Given the description of an element on the screen output the (x, y) to click on. 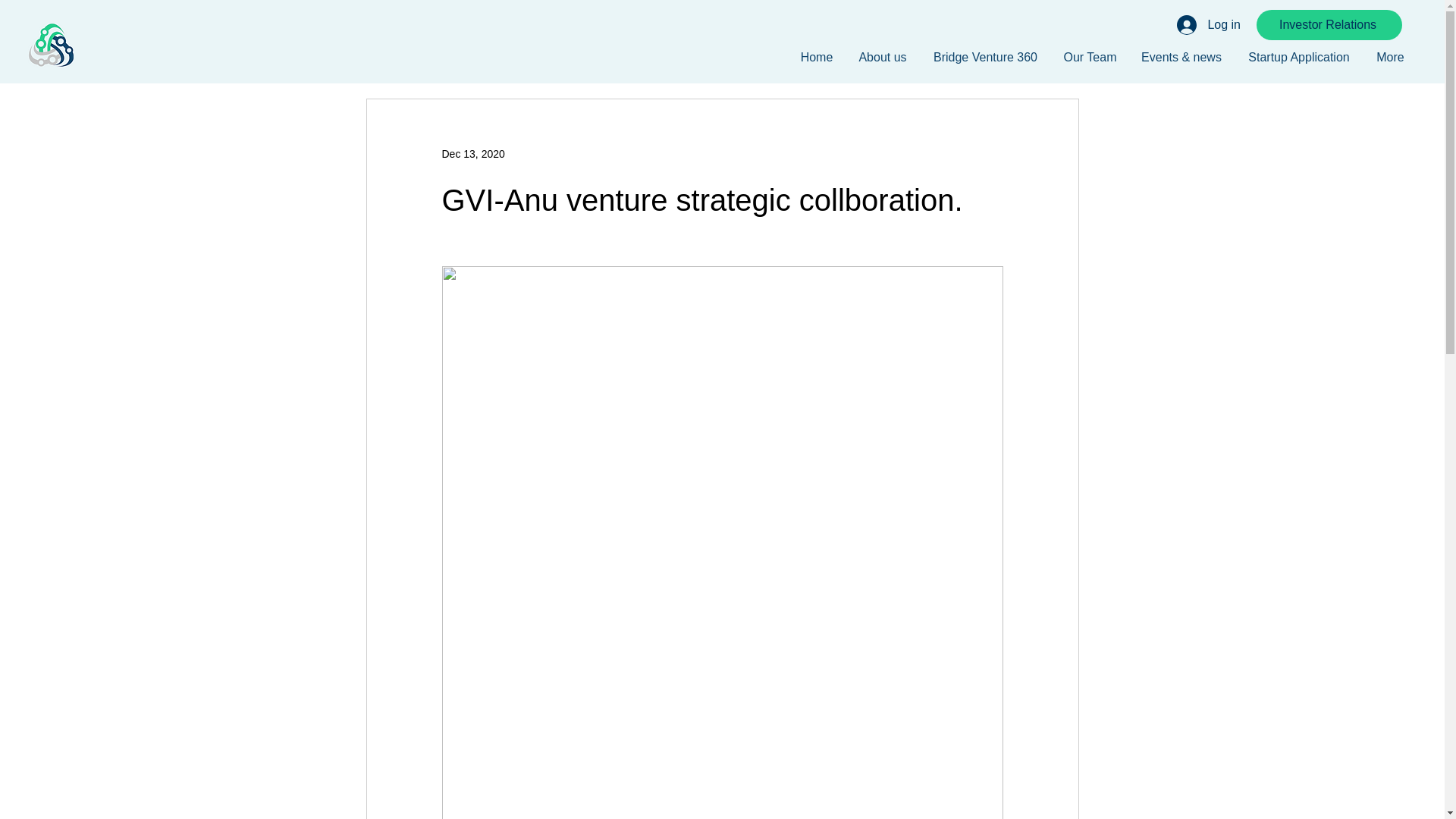
Dec 13, 2020 (472, 152)
Log in (1208, 24)
Startup Application (1298, 56)
About us (882, 56)
GOLD VENTURES INVESTMENT (50, 45)
Home (816, 56)
Investor Relations (1329, 24)
Our Team (1090, 56)
Bridge Venture 360 (985, 56)
